Given the description of an element on the screen output the (x, y) to click on. 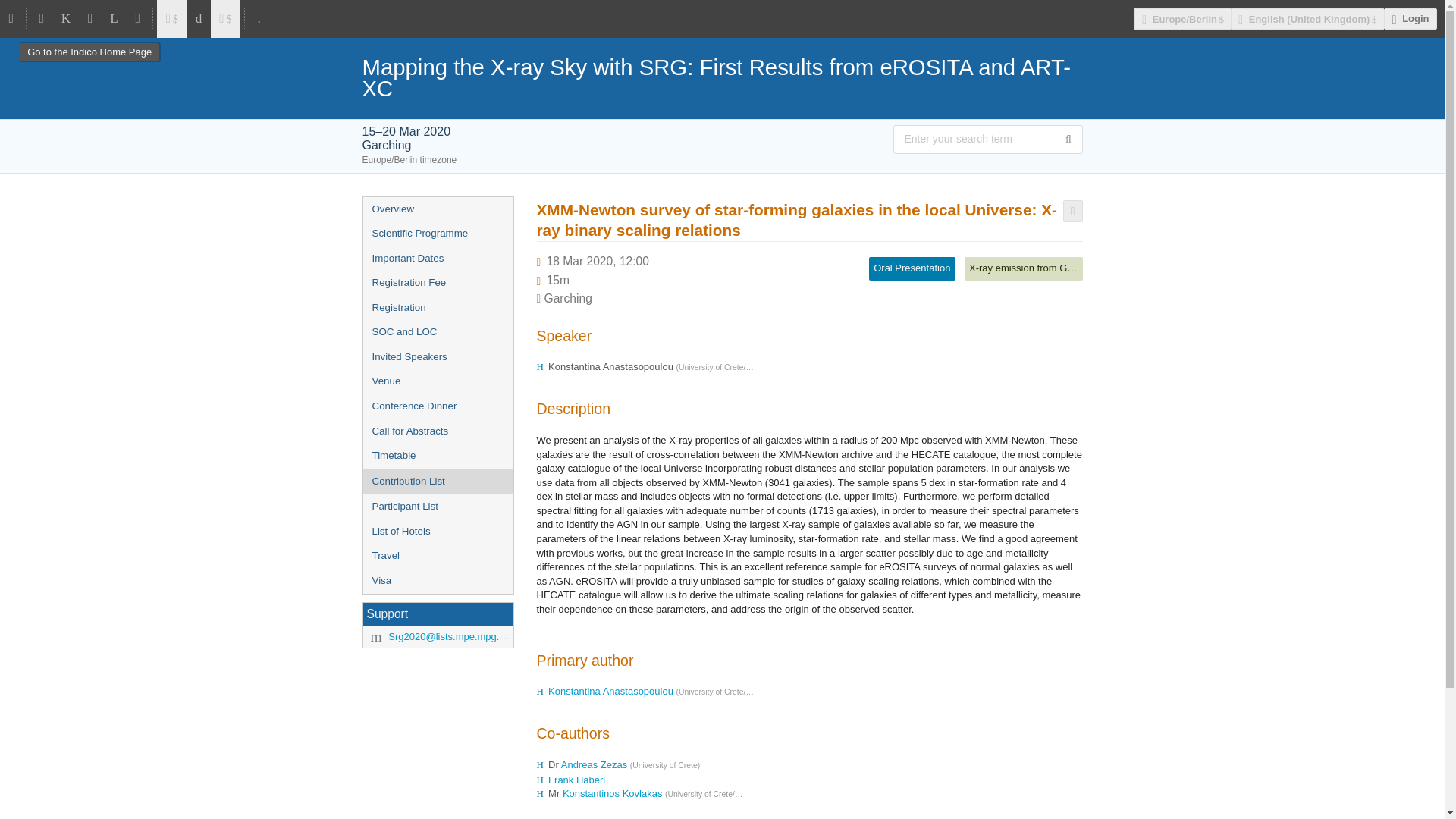
Important Dates (437, 258)
Login (1410, 19)
Invited Speakers (437, 357)
Scientific Programme (437, 233)
Overview (437, 209)
Registration (437, 308)
SOC and LOC (437, 332)
Duration (558, 279)
Export (1072, 210)
